Given the description of an element on the screen output the (x, y) to click on. 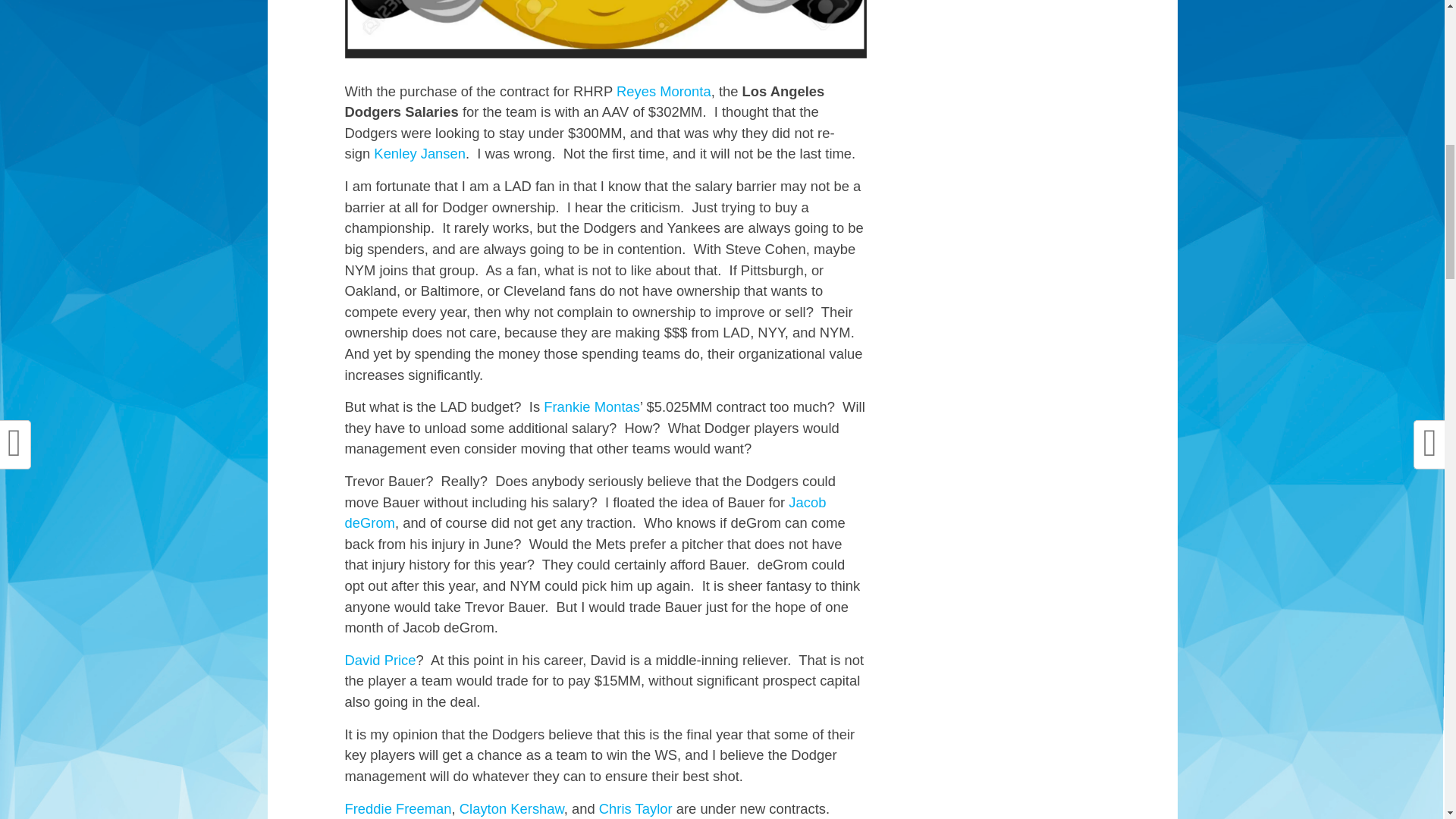
Jacob deGrom (584, 512)
Clayton Kershaw (512, 808)
Chris Taylor (635, 808)
Freddie Freeman (397, 808)
Kenley Jansen (419, 153)
David Price (378, 659)
Reyes Moronta (663, 91)
Frankie Montas (591, 406)
